Given the description of an element on the screen output the (x, y) to click on. 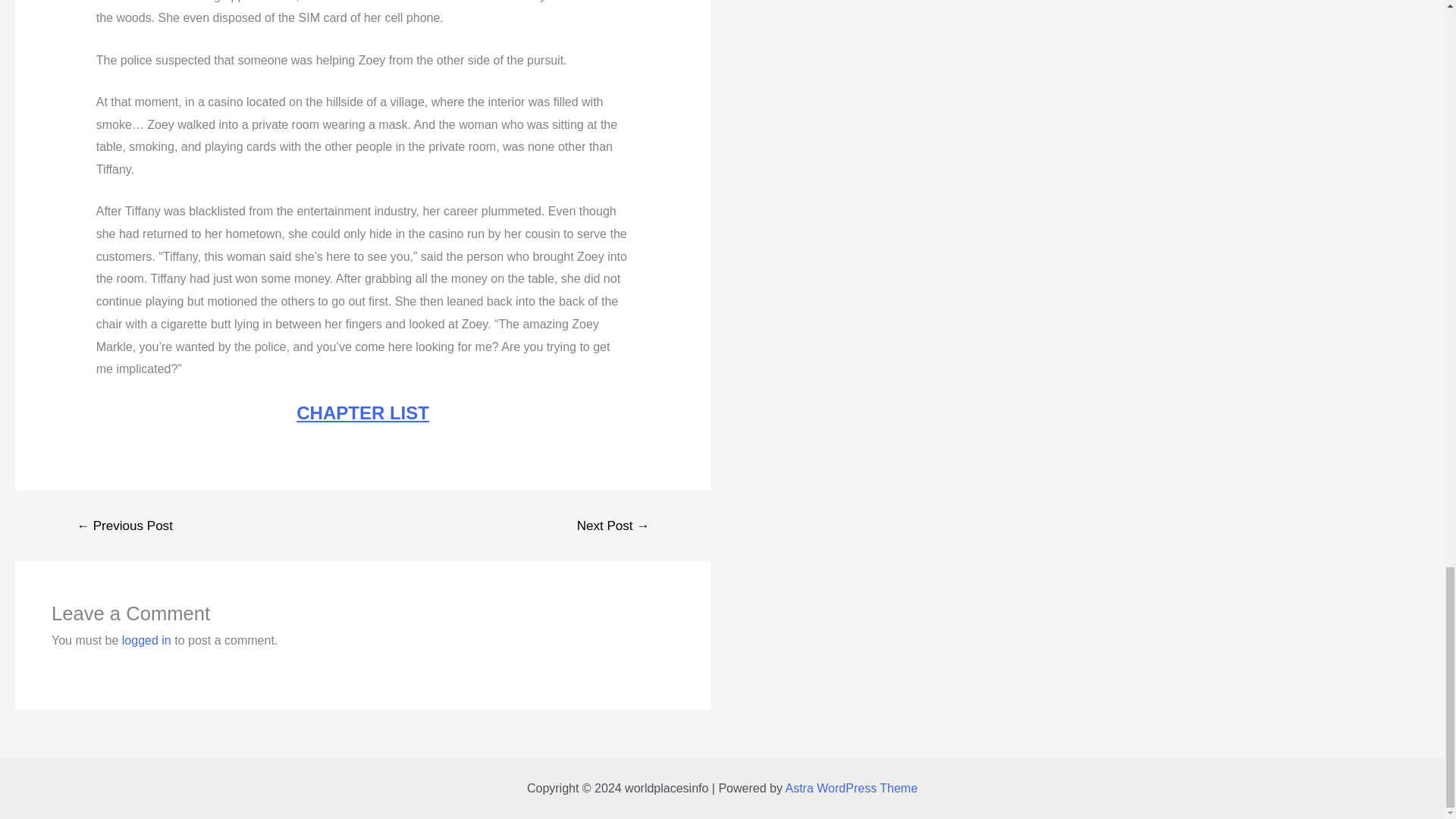
logged in (146, 640)
CHAPTER LIST (363, 412)
